Given the description of an element on the screen output the (x, y) to click on. 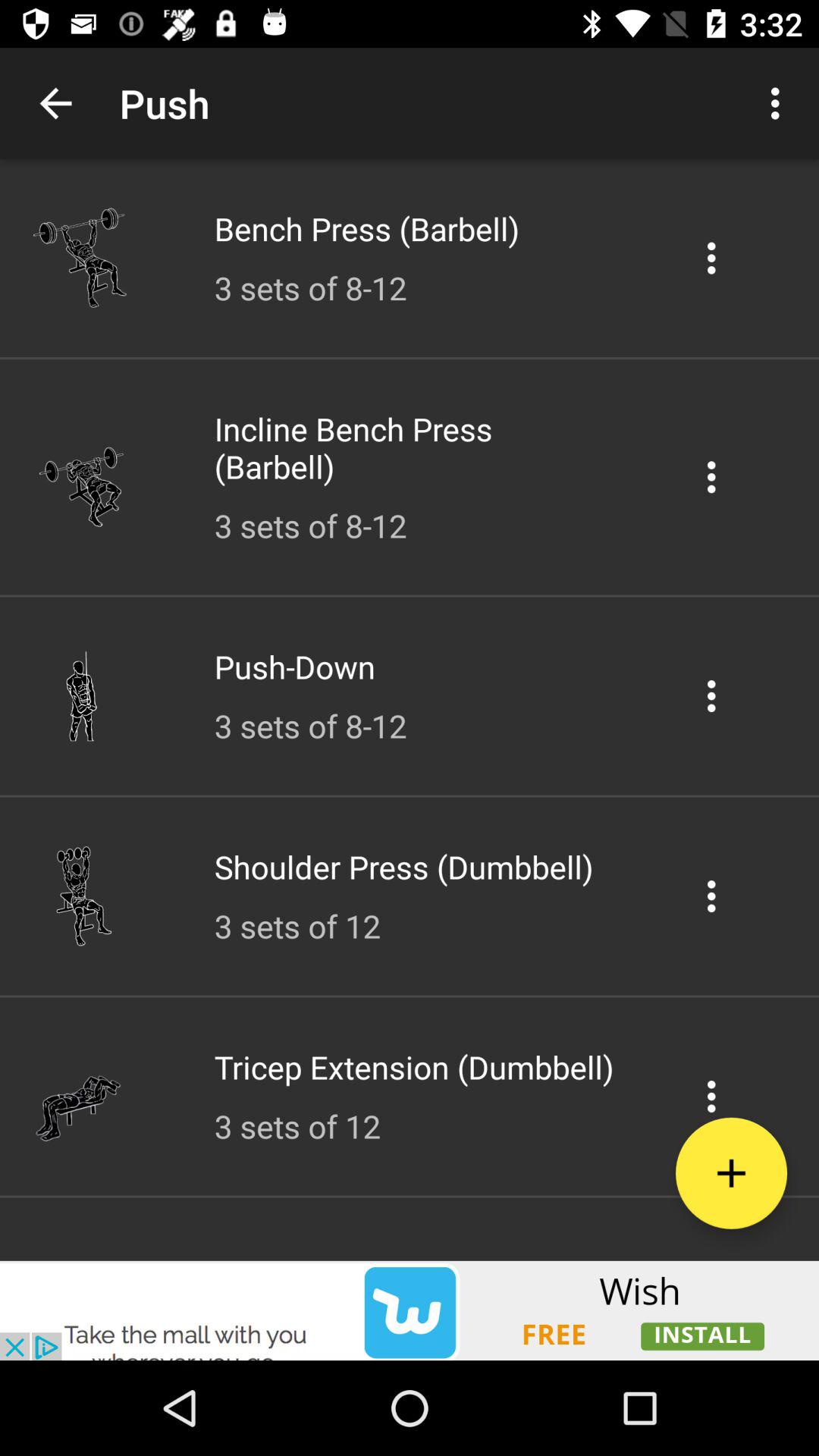
add workout (731, 1173)
